Given the description of an element on the screen output the (x, y) to click on. 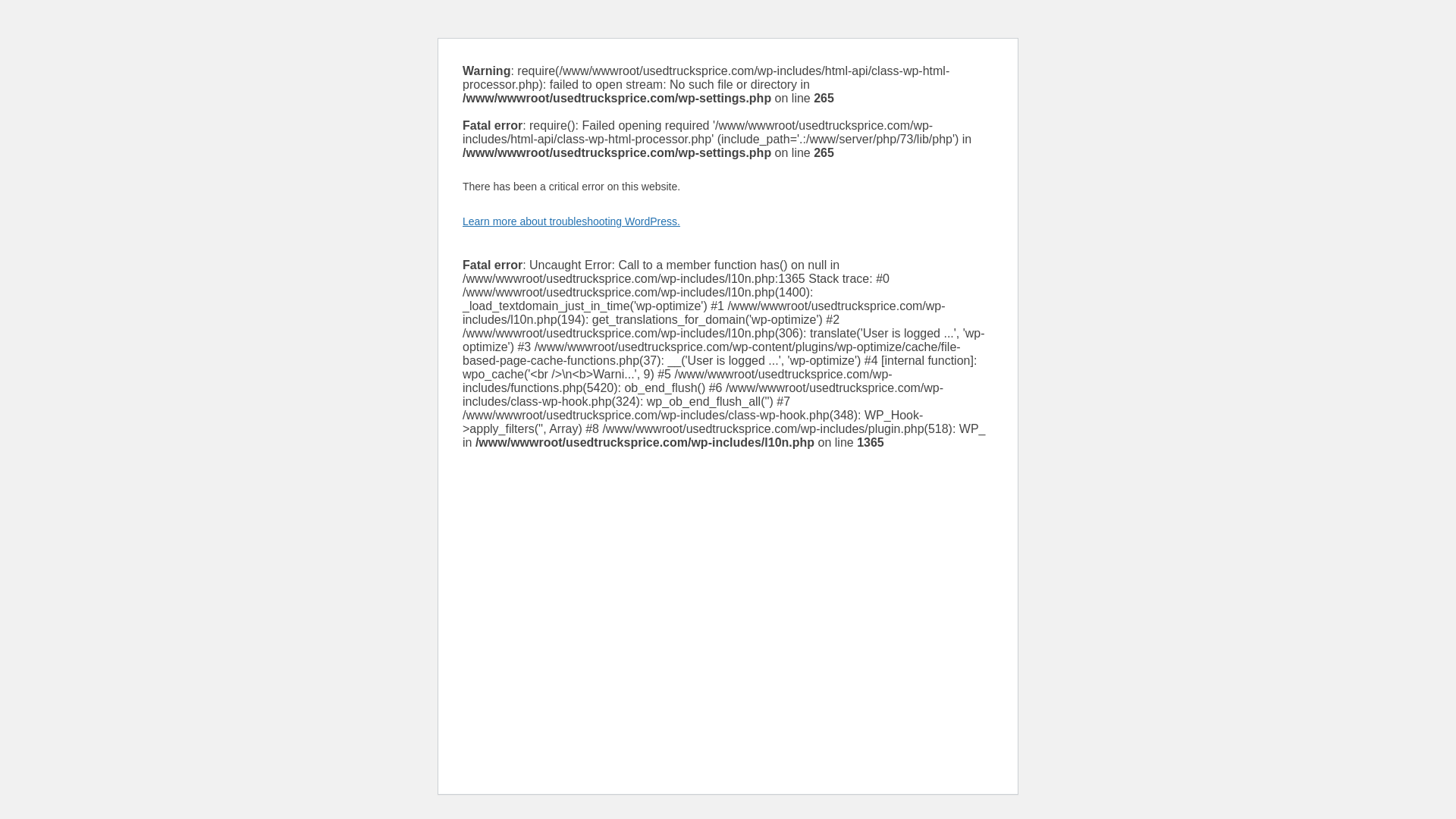
Learn more about troubleshooting WordPress. (571, 221)
